Given the description of an element on the screen output the (x, y) to click on. 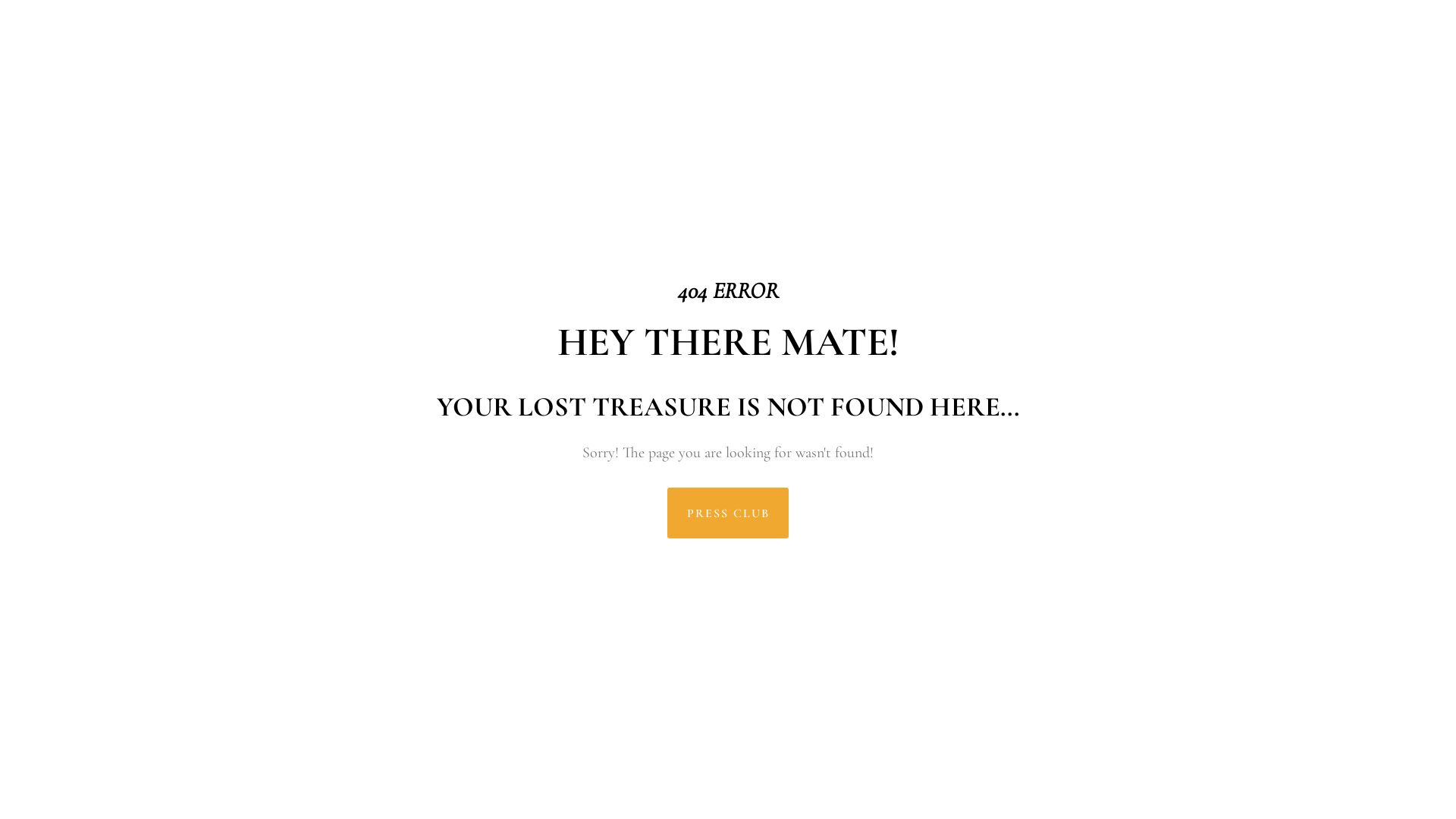
PRESS CLUB Element type: text (727, 512)
